Given the description of an element on the screen output the (x, y) to click on. 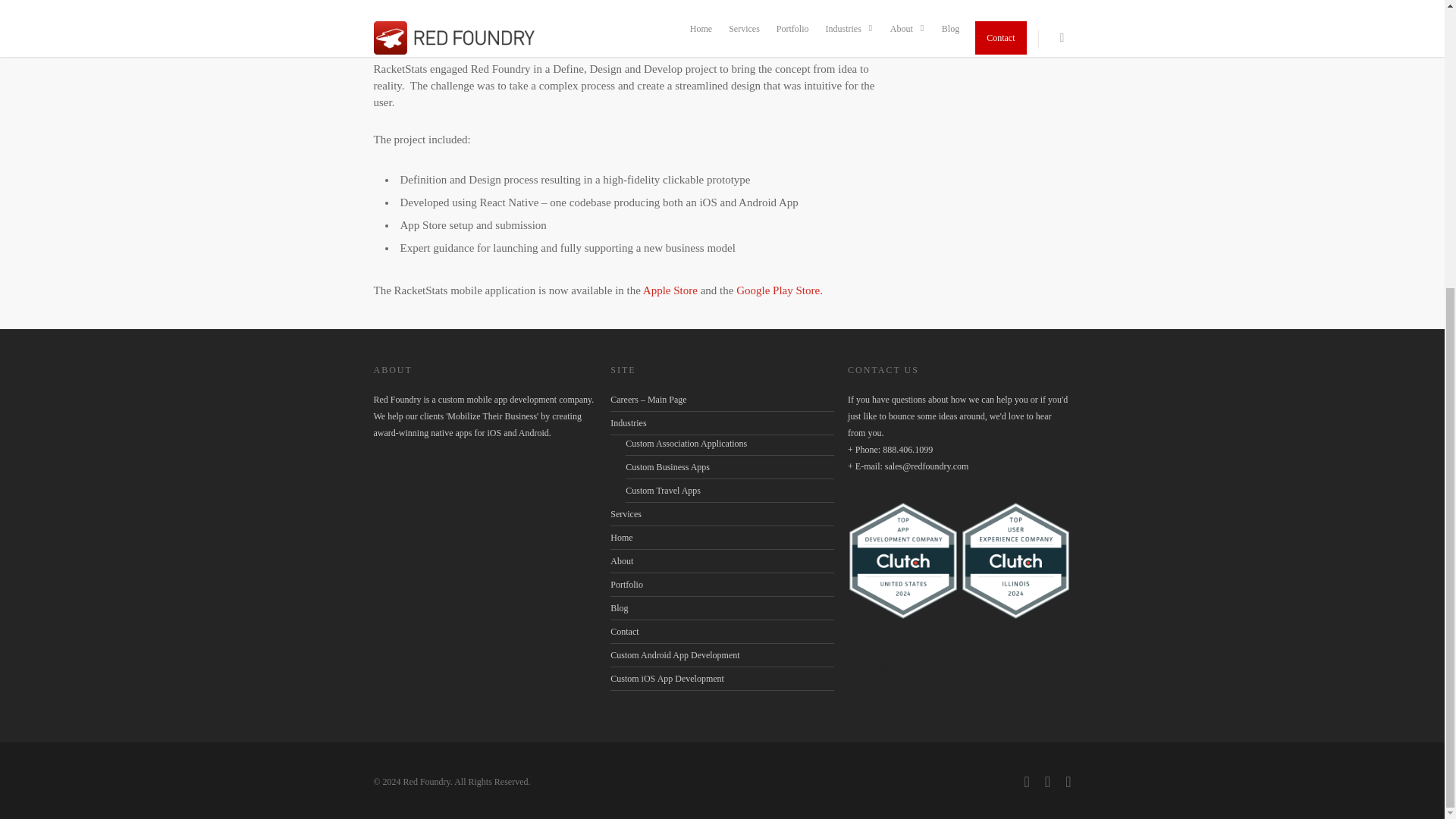
Custom Travel Apps (729, 490)
Custom Business Apps (729, 467)
Custom Association Applications (729, 444)
Google Play Store. (779, 290)
Apple Store (670, 290)
Industries (721, 422)
